Given the description of an element on the screen output the (x, y) to click on. 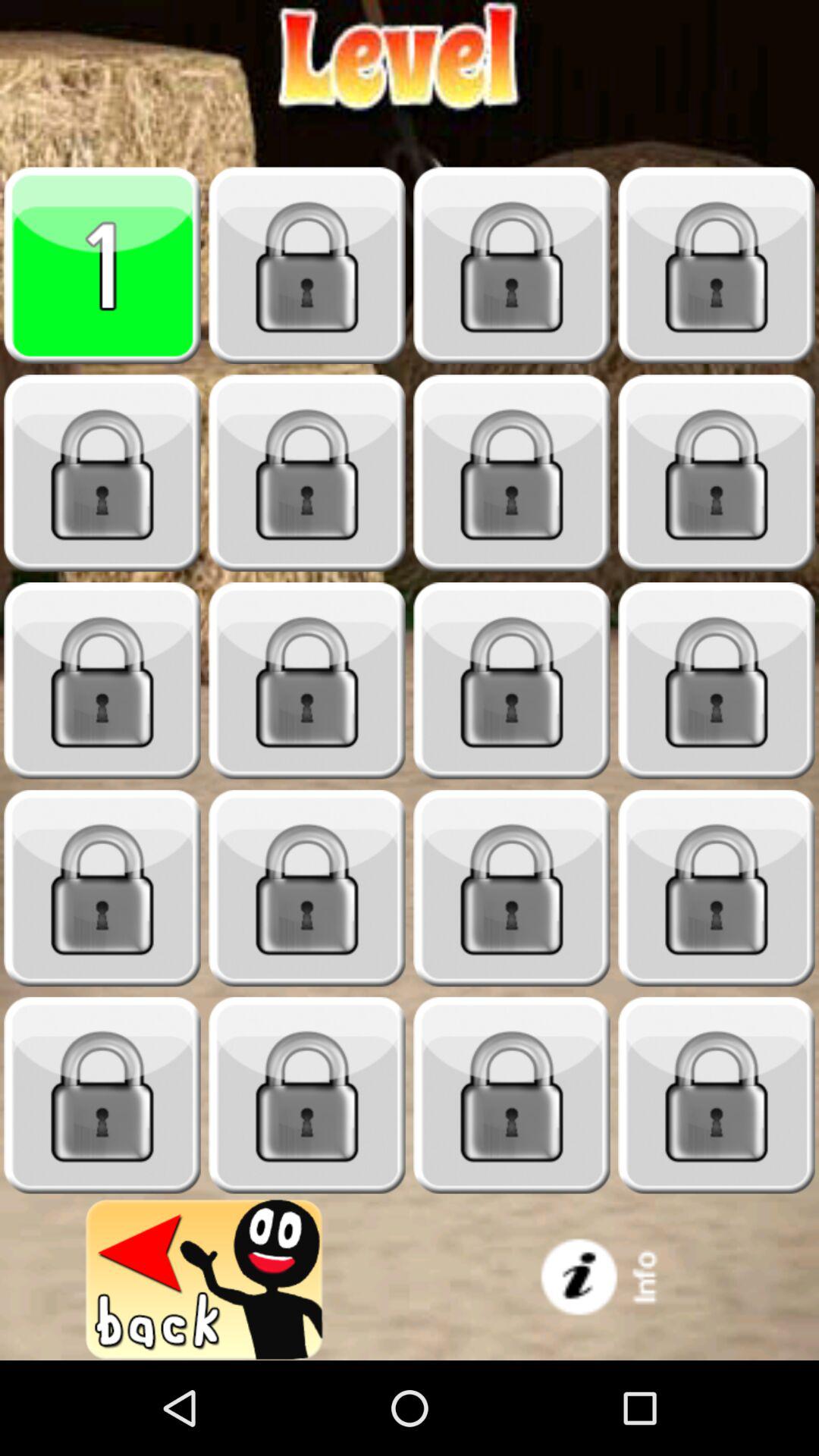
item locked (716, 887)
